Given the description of an element on the screen output the (x, y) to click on. 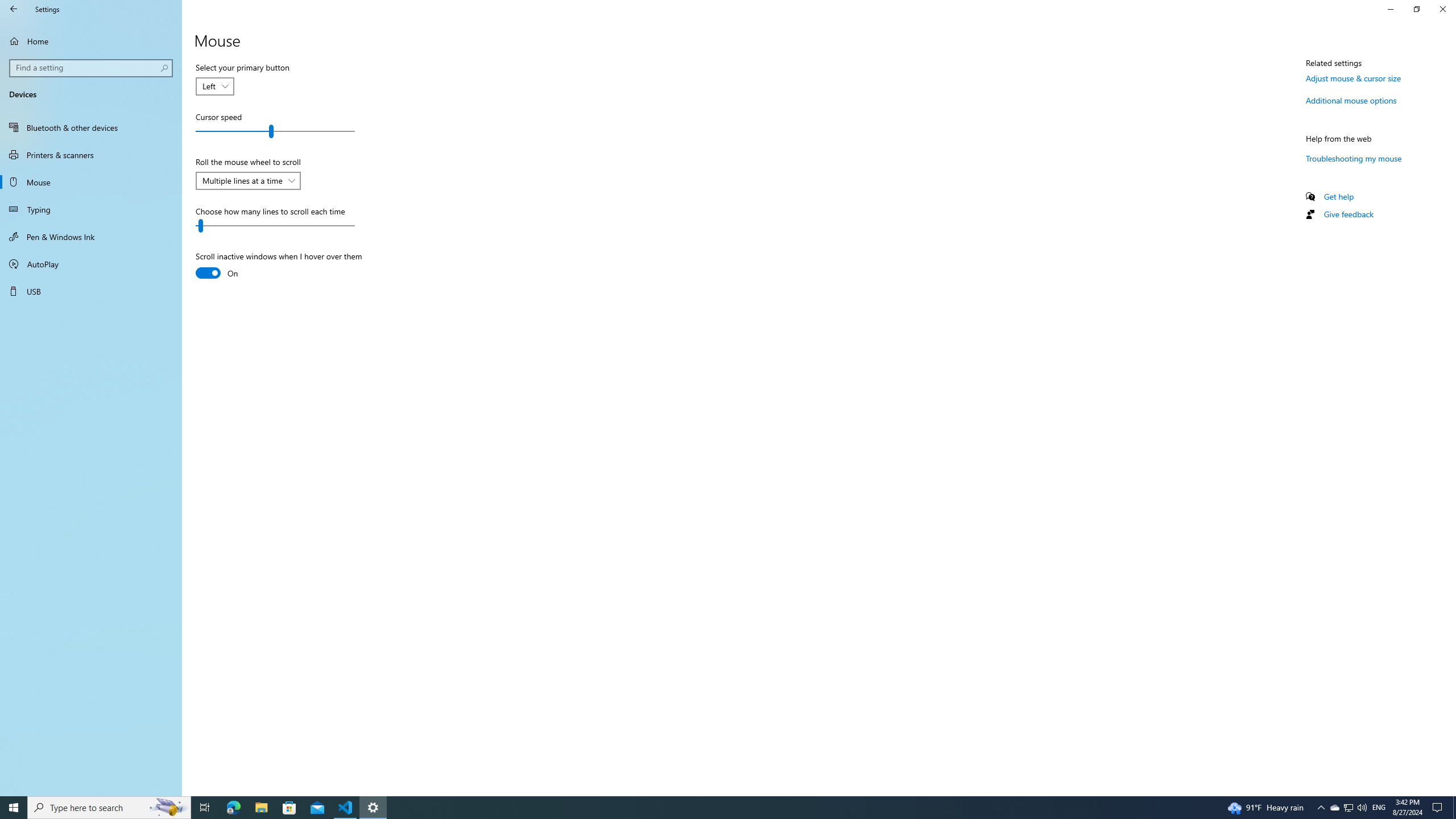
Printers & scanners (91, 154)
